Given the description of an element on the screen output the (x, y) to click on. 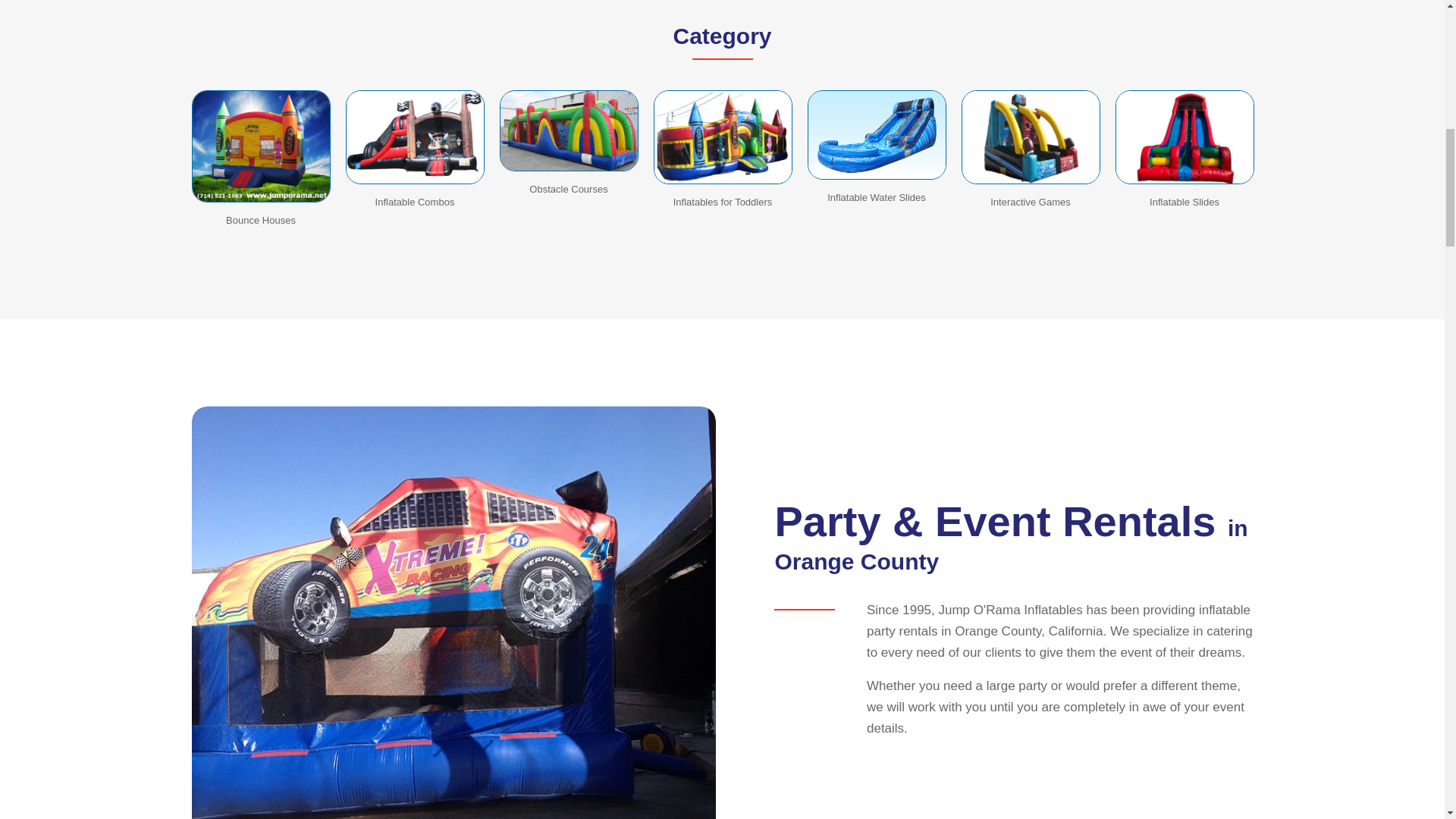
Jump O'Rama (722, 137)
Jump O'Rama (1030, 137)
obstacle course (568, 130)
Jump O'Rama (1184, 137)
Jump O'Rama (415, 137)
bounce house (260, 146)
waterslide1 (875, 134)
